Given the description of an element on the screen output the (x, y) to click on. 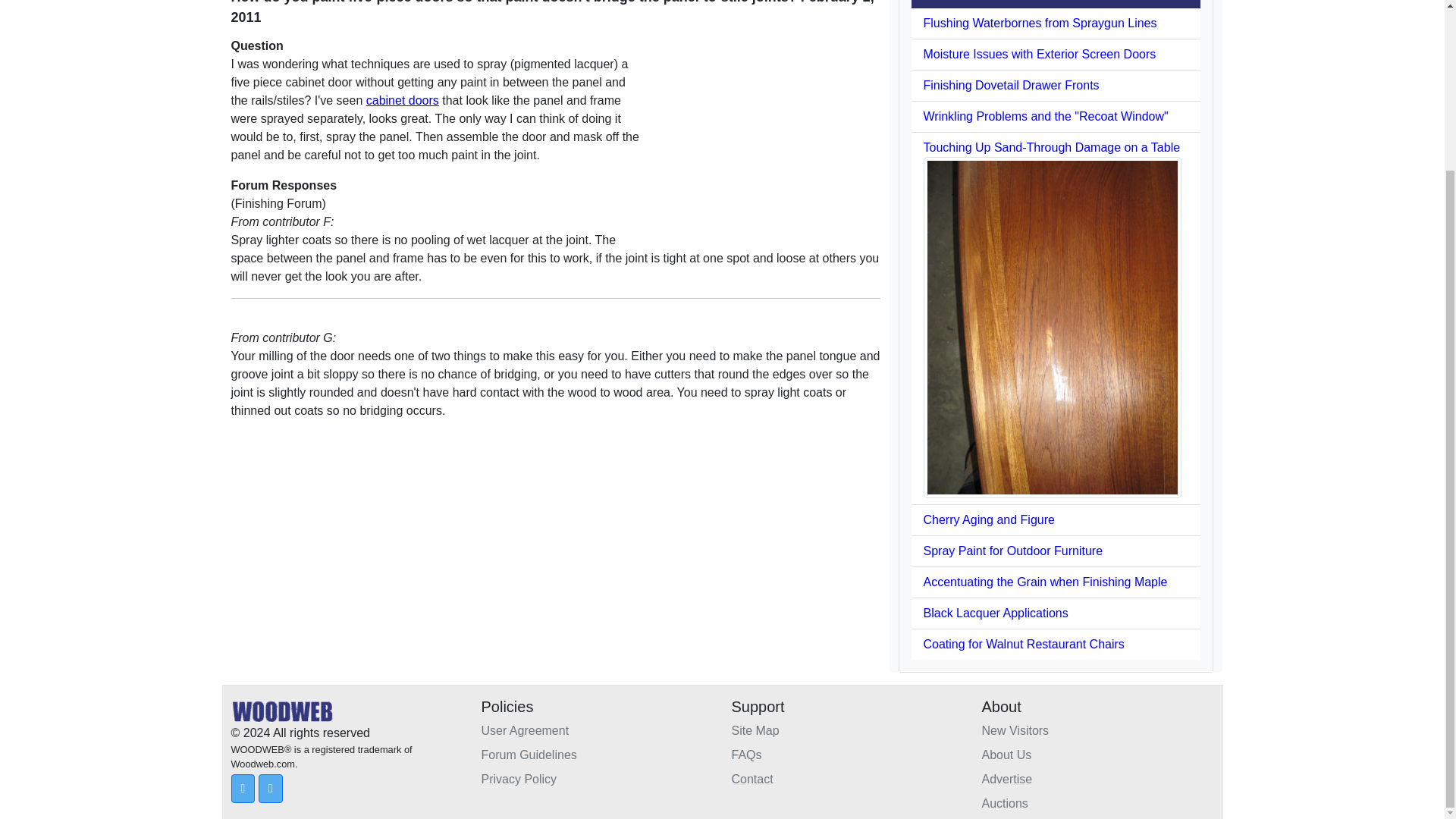
Advertisement (765, 131)
